Given the description of an element on the screen output the (x, y) to click on. 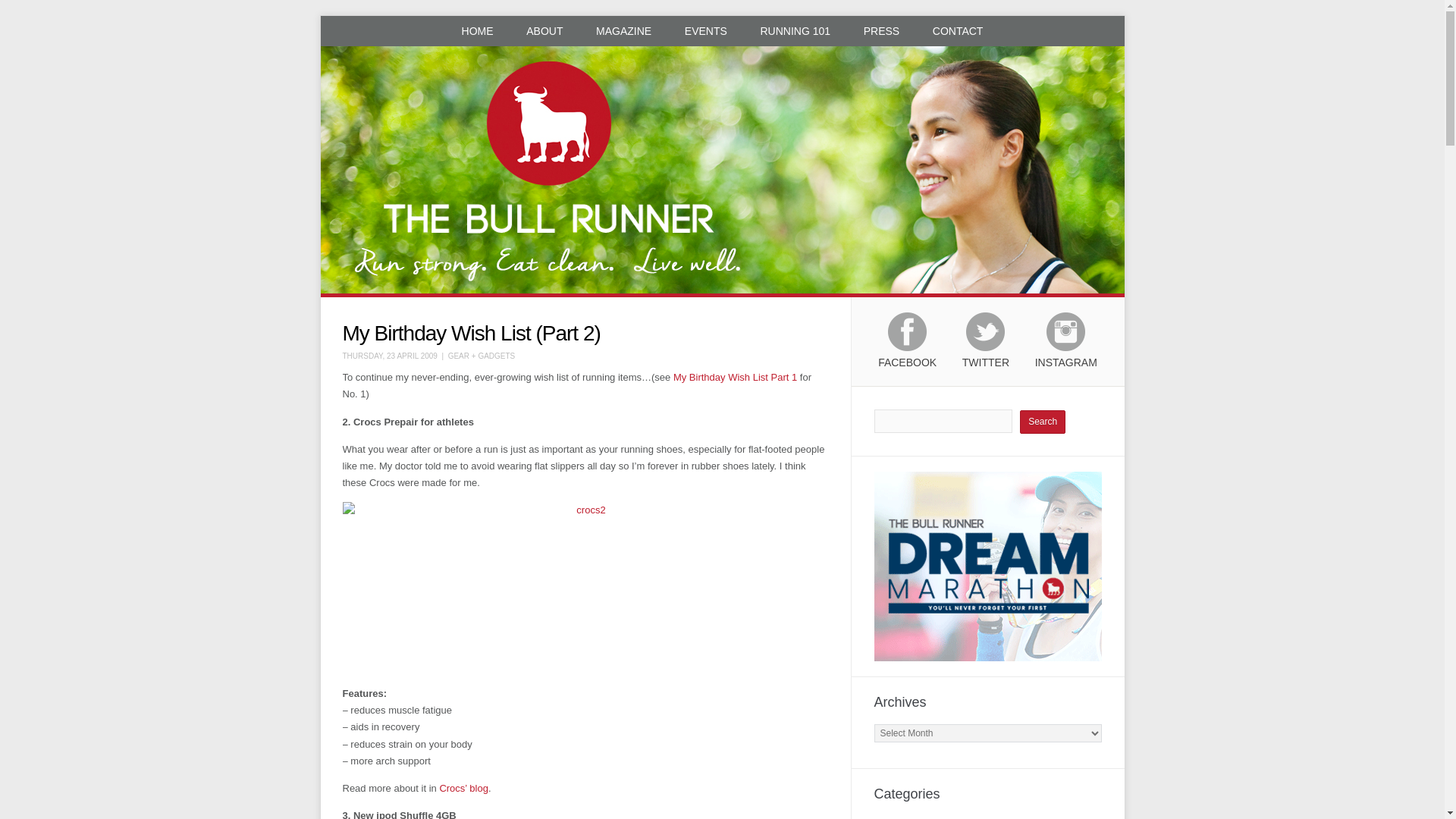
Search (1042, 421)
ABOUT (544, 30)
bday list 1 (734, 377)
RUNNING 101 (794, 30)
HOME (477, 30)
My Birthday Wish List Part 1 (734, 377)
PRESS (881, 30)
EVENTS (705, 30)
crocs (463, 787)
MAGAZINE (623, 30)
crocs2 by JPizarro2008, on Flickr (585, 588)
CONTACT (957, 30)
